Given the description of an element on the screen output the (x, y) to click on. 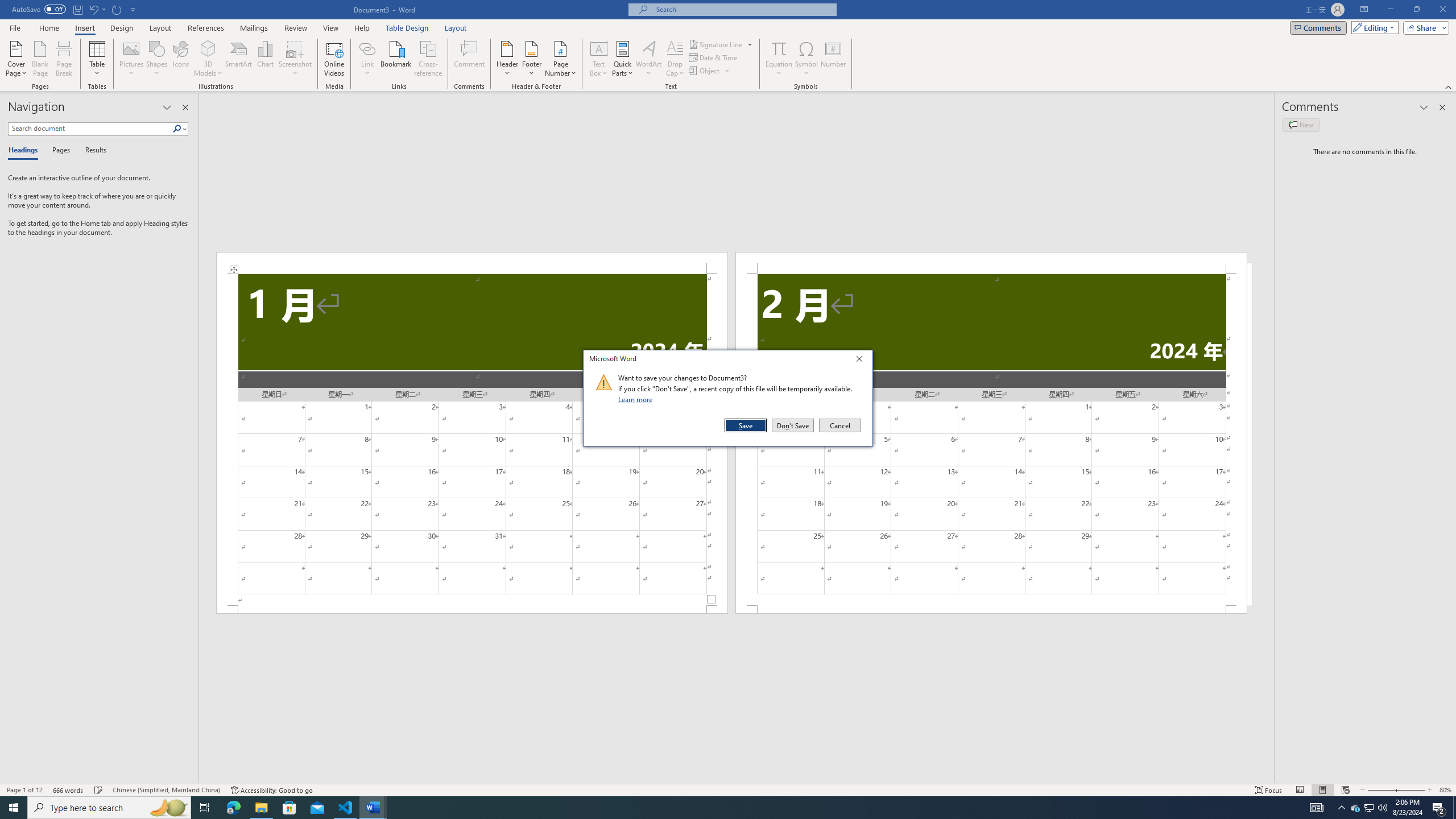
Pictures (131, 58)
Page Number Page 1 of 12 (24, 790)
Object... (705, 69)
Cancel (839, 425)
Footer -Section 2- (991, 609)
